Given the description of an element on the screen output the (x, y) to click on. 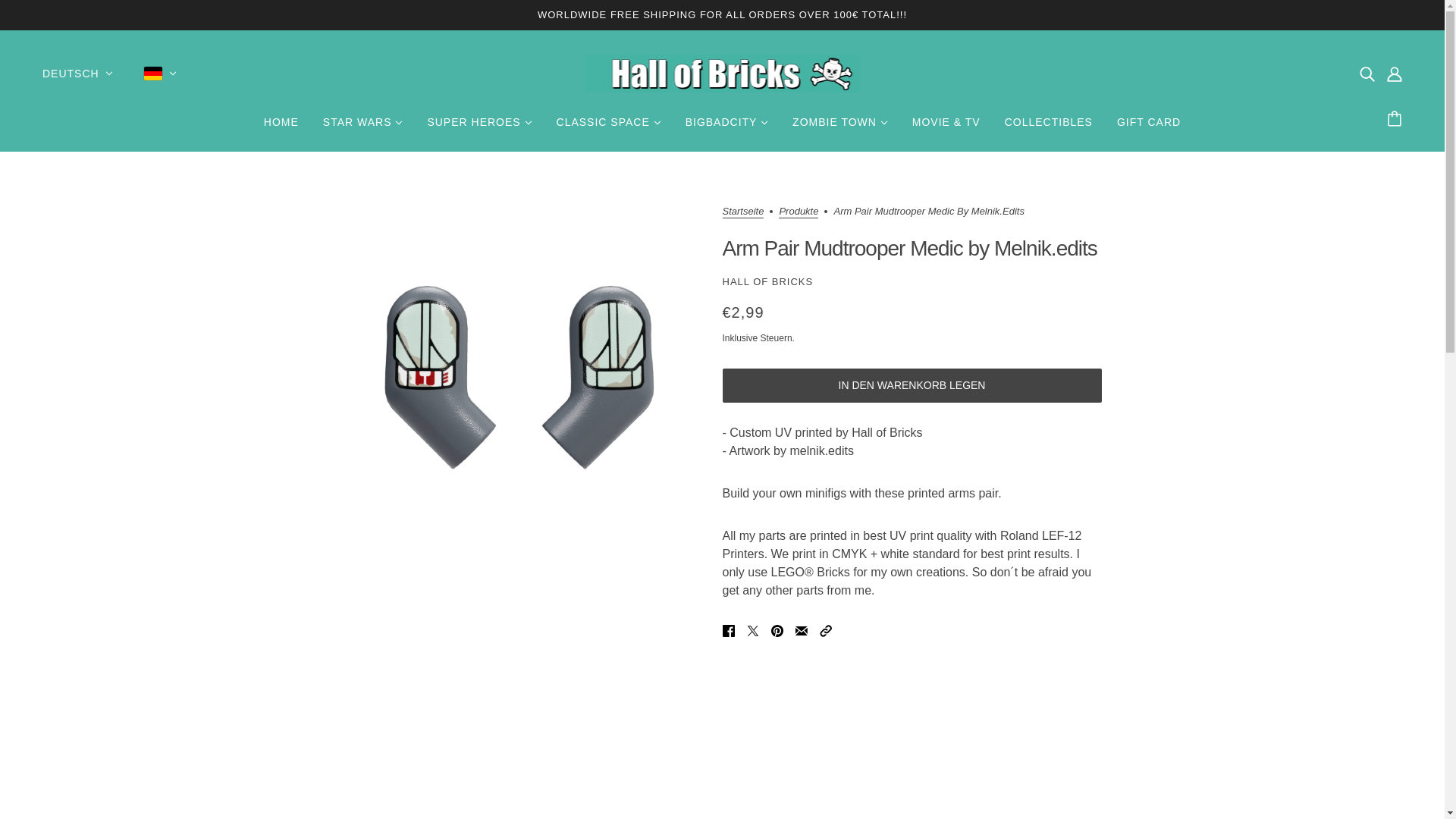
HOME (281, 127)
SUPER HEROES (478, 127)
CLASSIC SPACE (608, 127)
Hall of Bricks (722, 73)
ZOMBIE TOWN (839, 127)
DEUTSCH (77, 73)
STAR WARS (362, 127)
BIGBADCITY (726, 127)
